Given the description of an element on the screen output the (x, y) to click on. 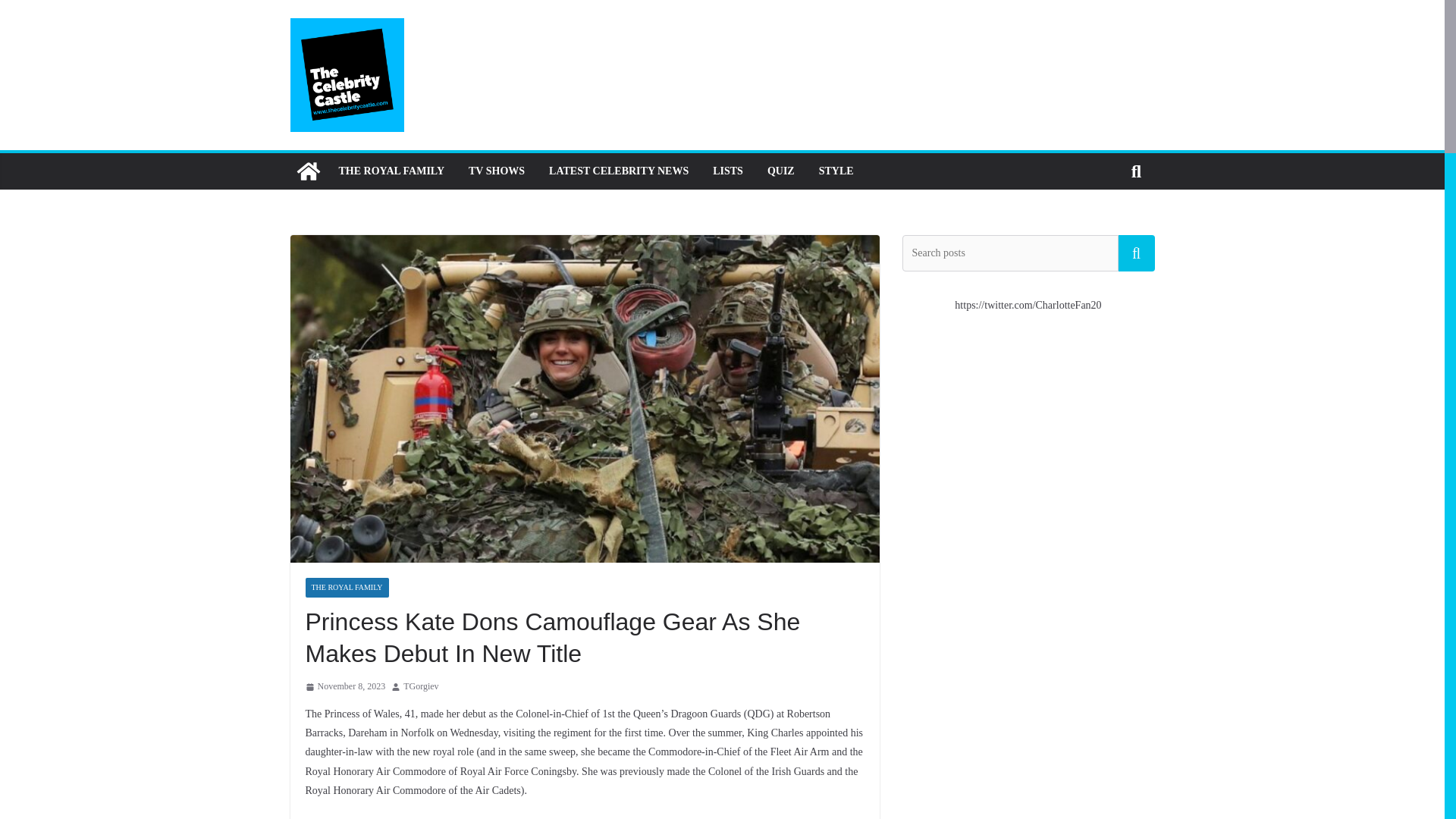
LISTS (727, 170)
Search (1136, 253)
TGorgiev (420, 686)
TV SHOWS (496, 170)
THE ROYAL FAMILY (390, 170)
LATEST CELEBRITY NEWS (618, 170)
QUIZ (780, 170)
TGorgiev (420, 686)
The Celebrity Castle (307, 171)
November 8, 2023 (344, 686)
